Given the description of an element on the screen output the (x, y) to click on. 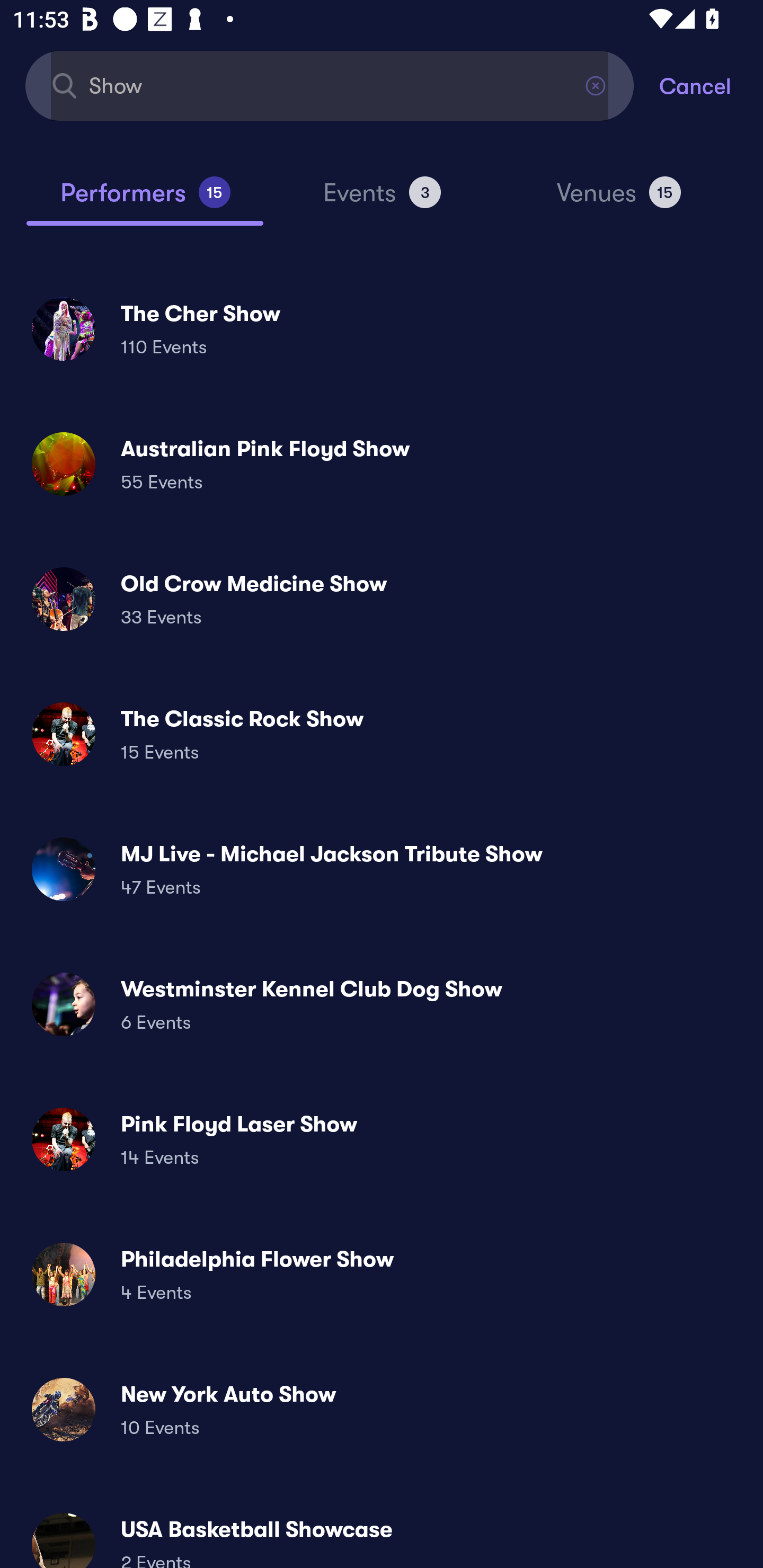
Show Find (329, 85)
Show Find (329, 85)
Cancel (711, 85)
Performers 15 (144, 200)
Events 3 (381, 200)
Venues 15 (618, 200)
The Cher Show 110 Events (381, 328)
Australian Pink Floyd Show 55 Events (381, 464)
Old Crow Medicine Show 33 Events (381, 598)
The Classic Rock Show 15 Events (381, 734)
MJ Live - Michael Jackson Tribute Show 47 Events (381, 869)
Westminster Kennel Club Dog Show 6 Events (381, 1004)
Pink Floyd Laser Show 14 Events (381, 1138)
Philadelphia Flower Show 4 Events (381, 1273)
New York Auto Show 10 Events (381, 1409)
USA Basketball Showcase 2 Events (381, 1532)
